Given the description of an element on the screen output the (x, y) to click on. 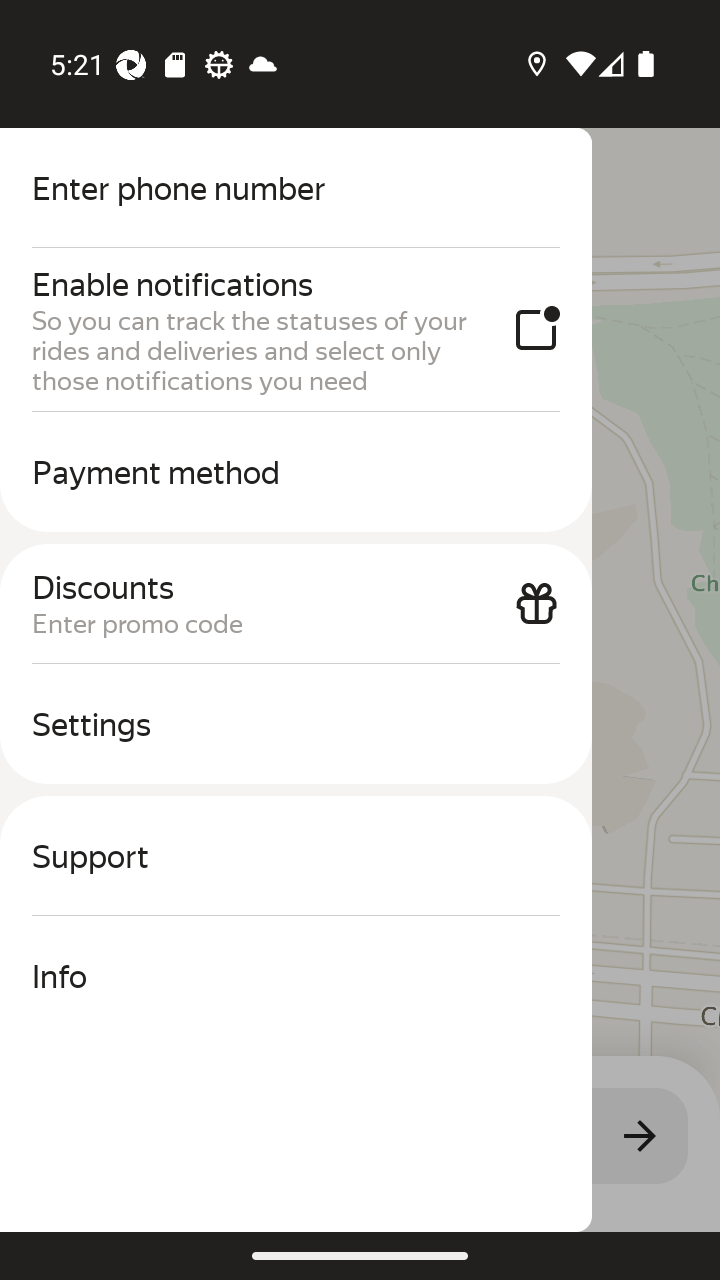
Enter phone number (295, 188)
Payment method (295, 472)
Settings (295, 723)
Support (295, 856)
Info (295, 975)
